Given the description of an element on the screen output the (x, y) to click on. 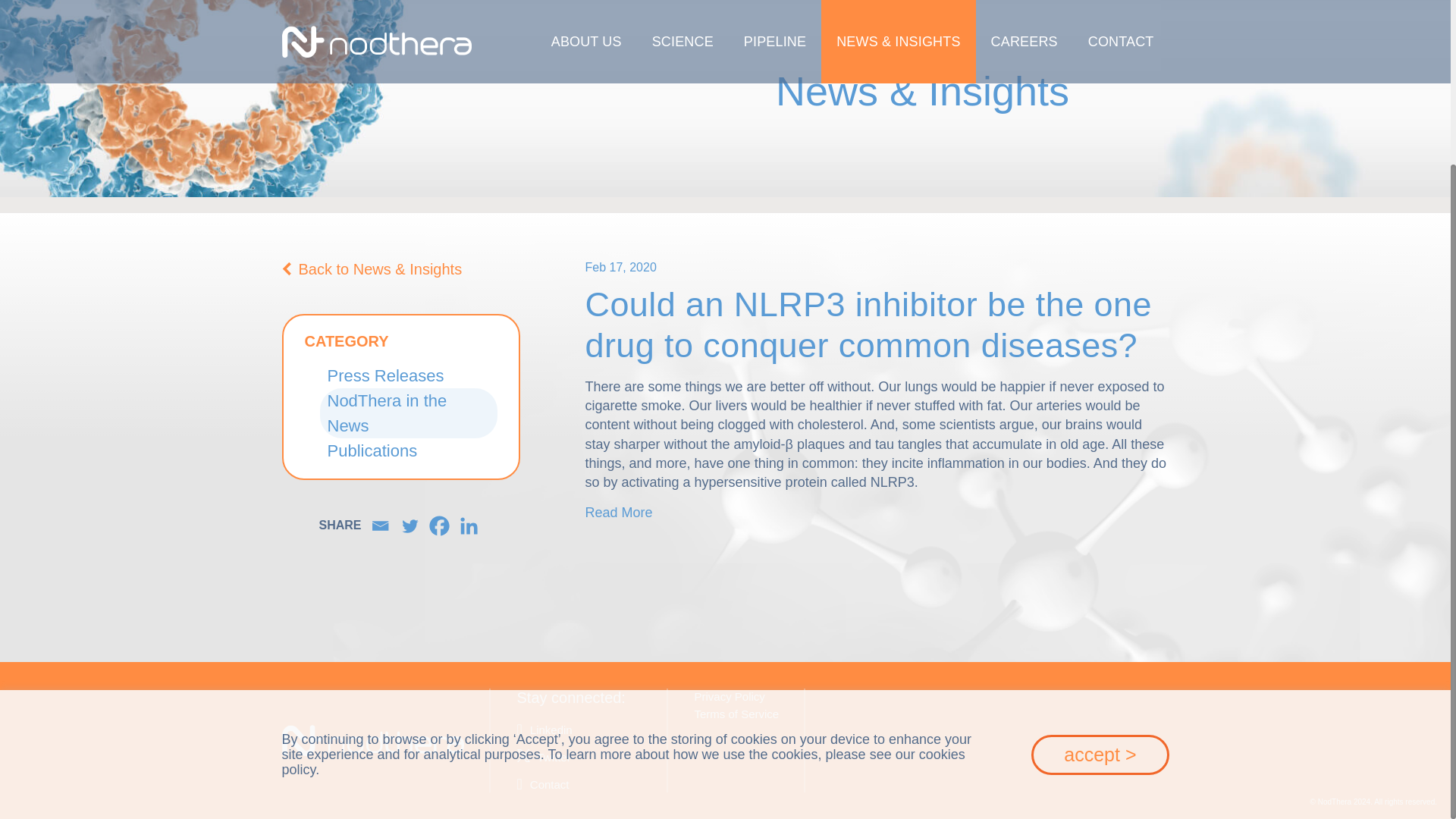
Publications (372, 450)
Read More (618, 512)
Press Releases (385, 375)
NodThera in the News (386, 412)
